Given the description of an element on the screen output the (x, y) to click on. 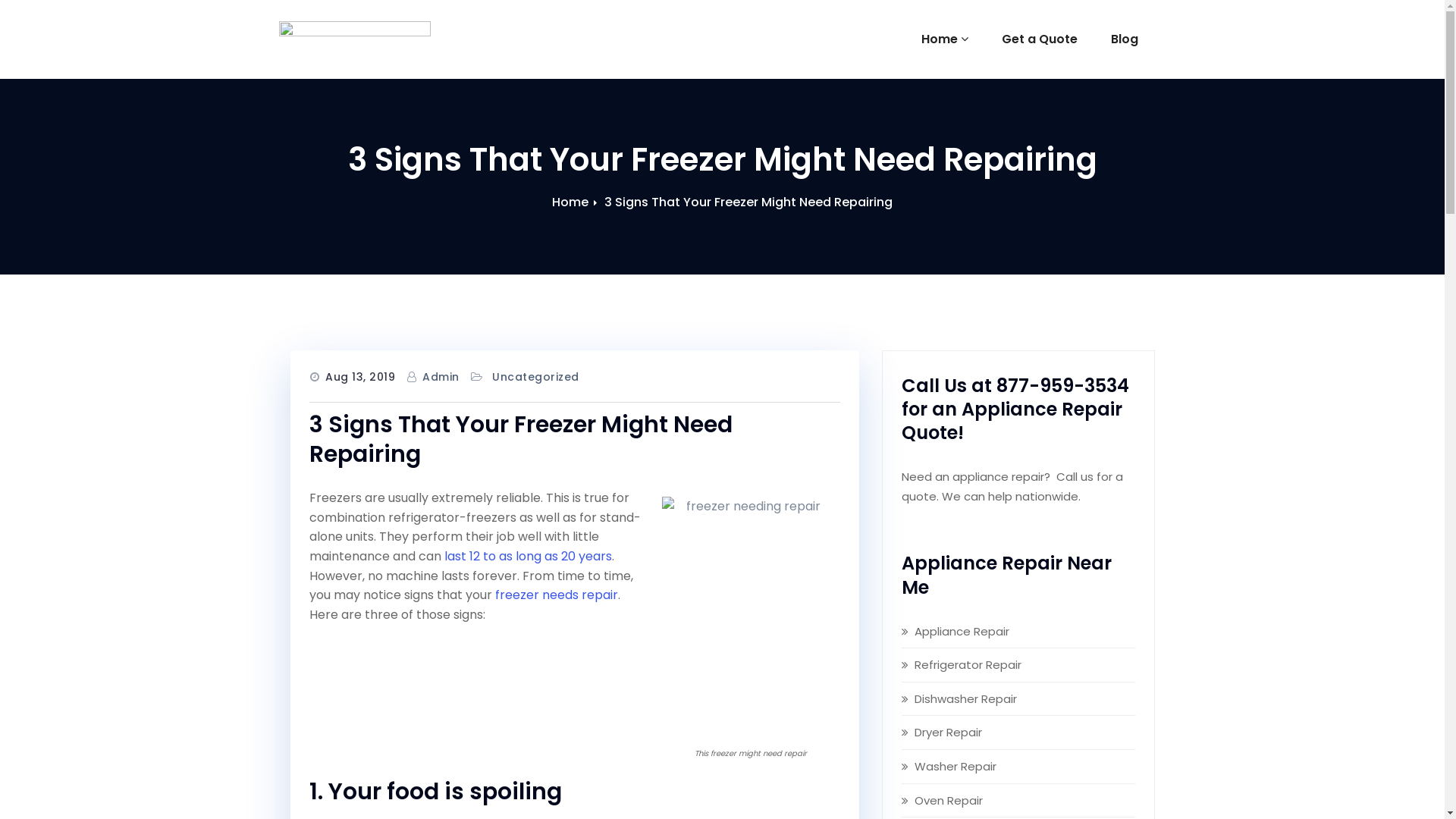
Home Element type: text (943, 39)
Refrigerator Repair Element type: text (967, 664)
Home Element type: text (570, 201)
Appliance Repair Element type: text (961, 631)
freezer needs repair Element type: text (555, 594)
3 Signs That Your Freezer Might Need Repairing Element type: text (748, 201)
This freezer might need repair Element type: hover (746, 610)
Dishwasher Repair Element type: text (965, 698)
Get a Quote Element type: text (1038, 39)
Oven Repair Element type: text (948, 800)
Uncategorized Element type: text (535, 377)
Admin Element type: text (440, 377)
Aug 13, 2019 Element type: text (360, 377)
3 Signs That Your Freezer Might Need Repairing Element type: text (520, 439)
Washer Repair Element type: text (955, 766)
Blog Element type: text (1123, 39)
Dryer Repair Element type: text (948, 732)
last 12 to as long as 20 years Element type: text (527, 555)
